Given the description of an element on the screen output the (x, y) to click on. 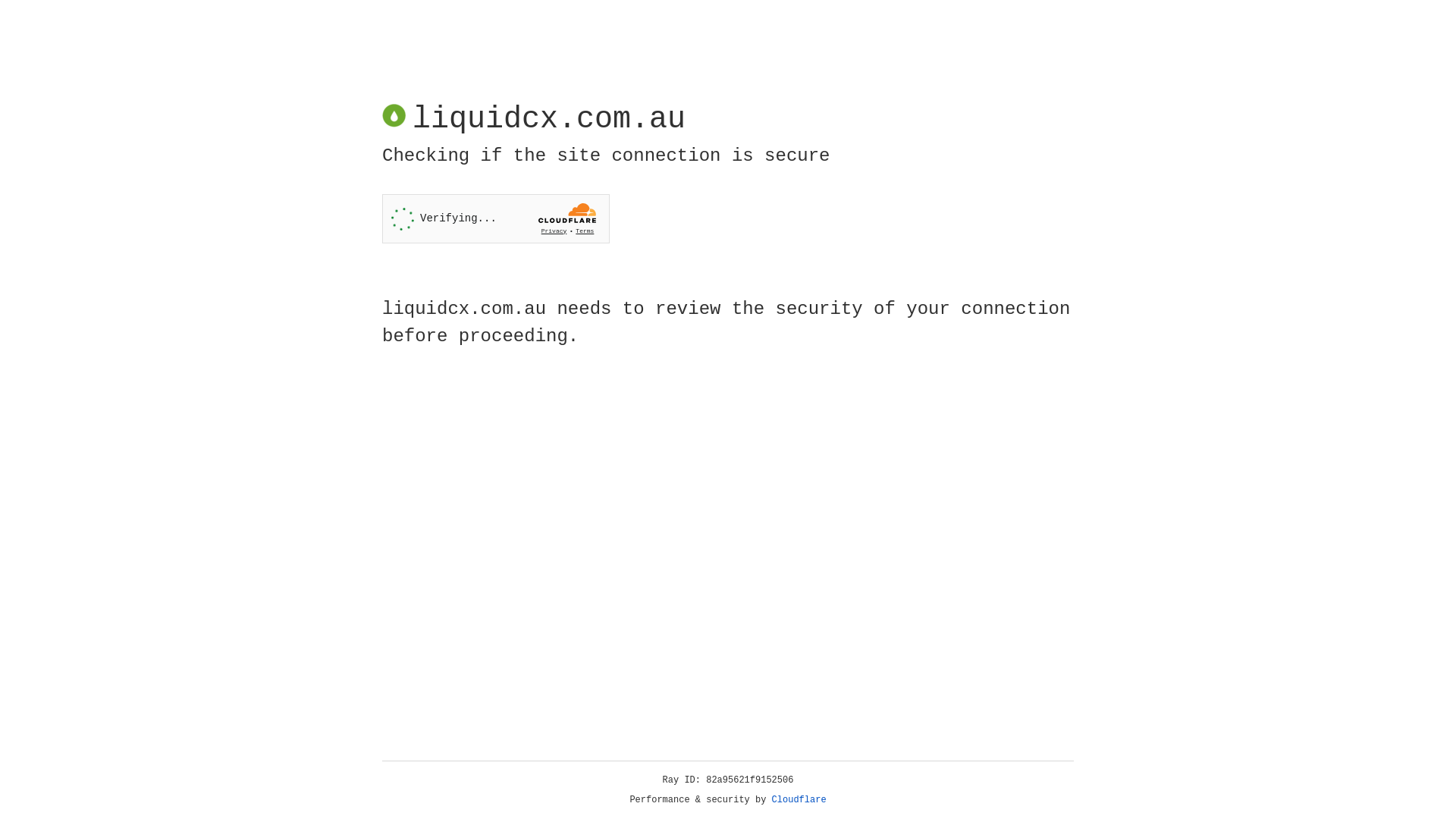
Widget containing a Cloudflare security challenge Element type: hover (495, 218)
Cloudflare Element type: text (798, 799)
